Given the description of an element on the screen output the (x, y) to click on. 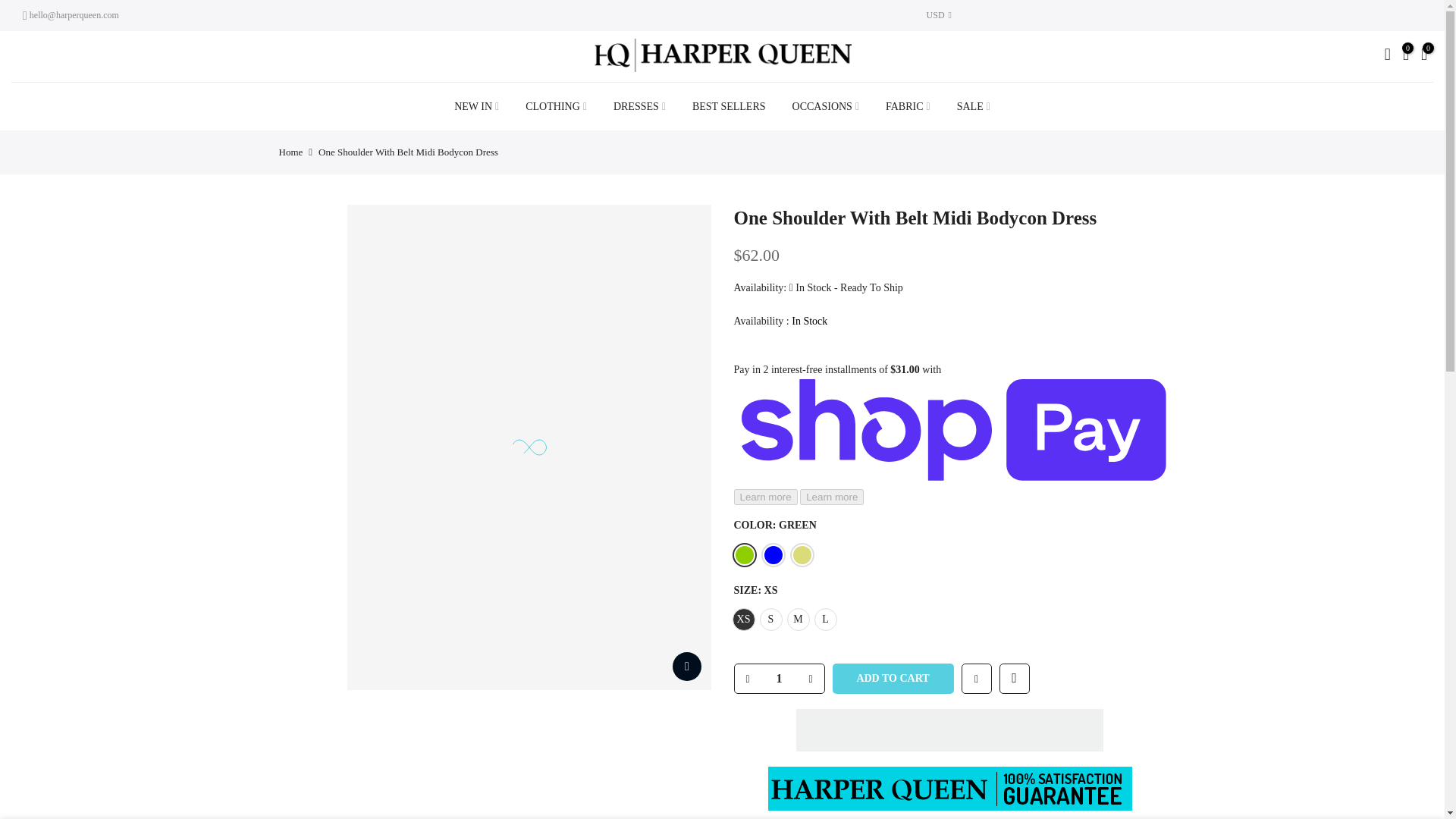
0 (1405, 55)
1 (778, 678)
Home (290, 151)
BEST SELLERS (728, 106)
FABRIC (907, 106)
DRESSES (638, 106)
SALE (973, 106)
NEW IN (476, 106)
OCCASIONS (825, 106)
CLOTHING (555, 106)
